Given the description of an element on the screen output the (x, y) to click on. 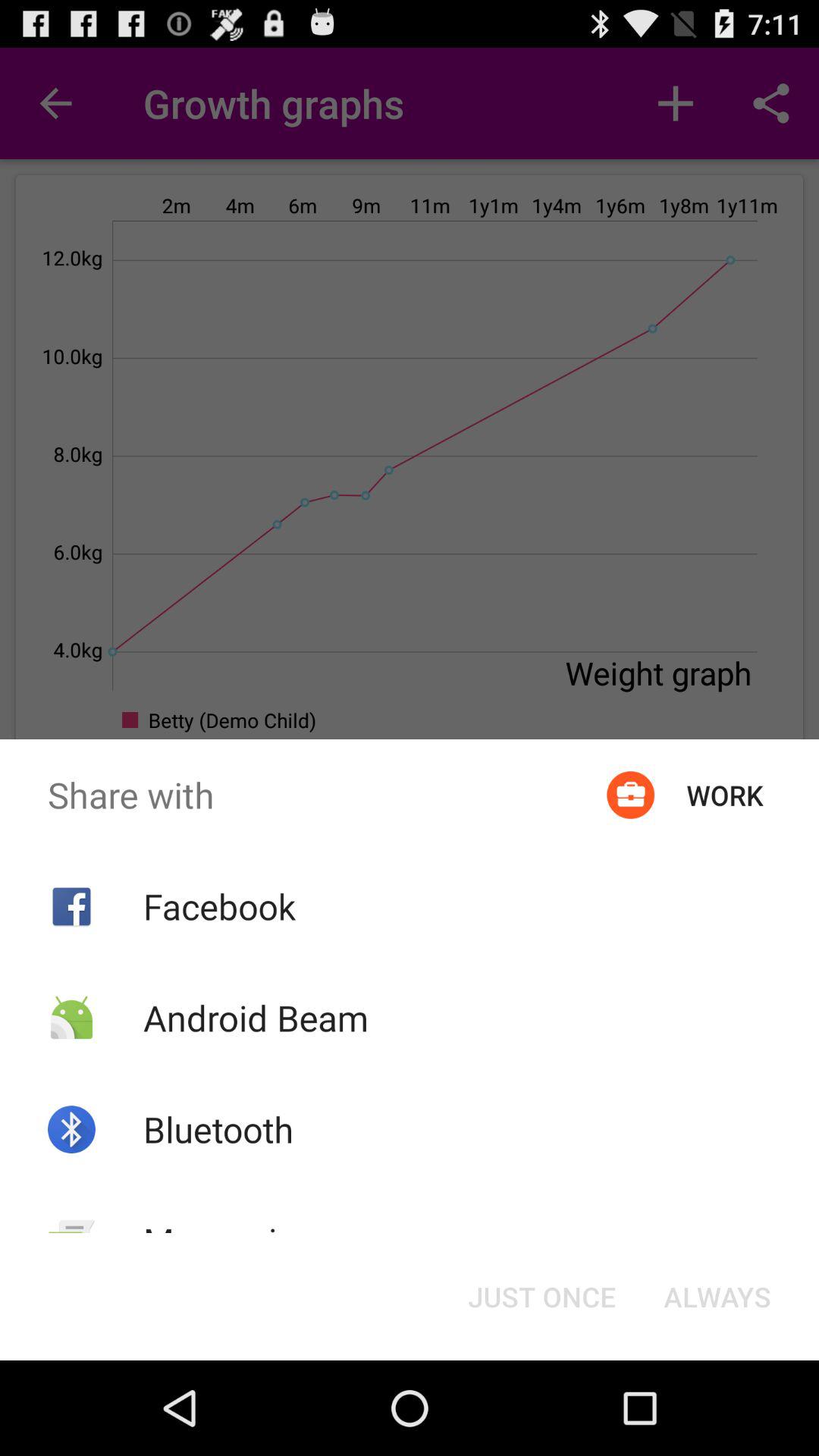
choose item to the right of the messaging (541, 1296)
